Given the description of an element on the screen output the (x, y) to click on. 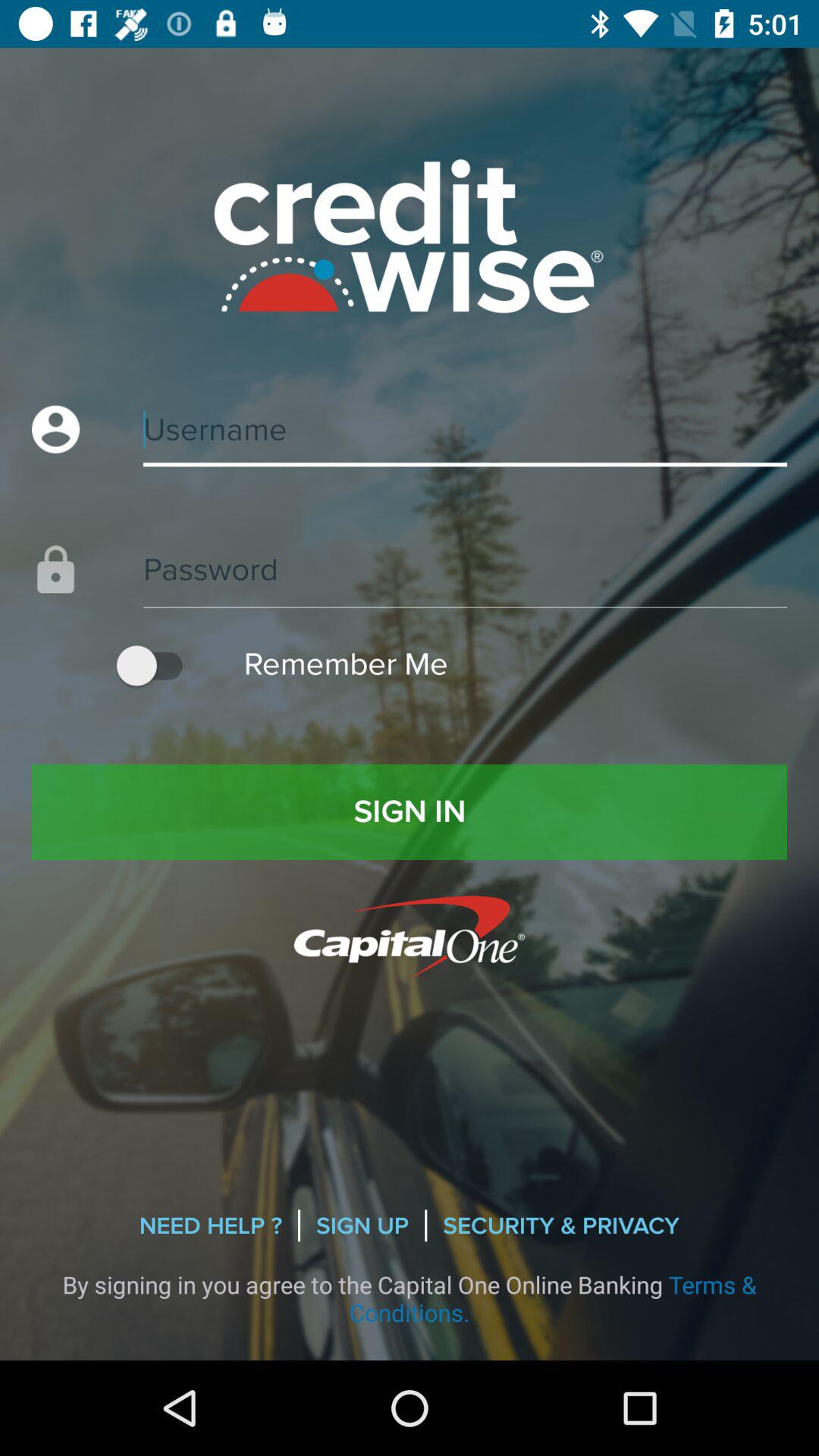
click icon at the bottom right corner (561, 1225)
